Given the description of an element on the screen output the (x, y) to click on. 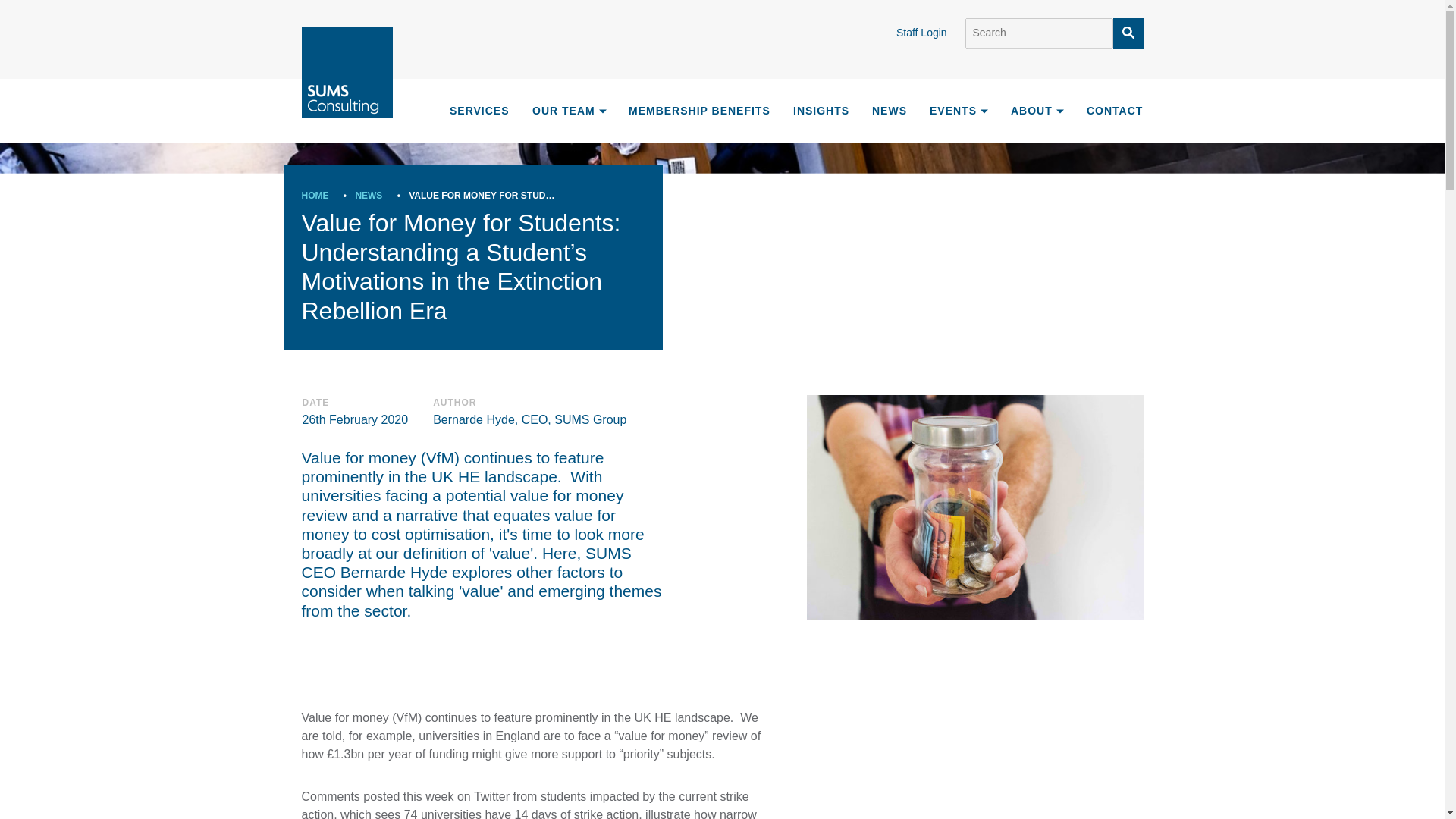
OUR TEAM (569, 110)
MEMBERSHIP BENEFITS (699, 110)
Search (1037, 33)
SERVICES (478, 109)
Staff Login (929, 32)
HOME (315, 195)
EVENTS (959, 110)
NEWS (368, 195)
